Given the description of an element on the screen output the (x, y) to click on. 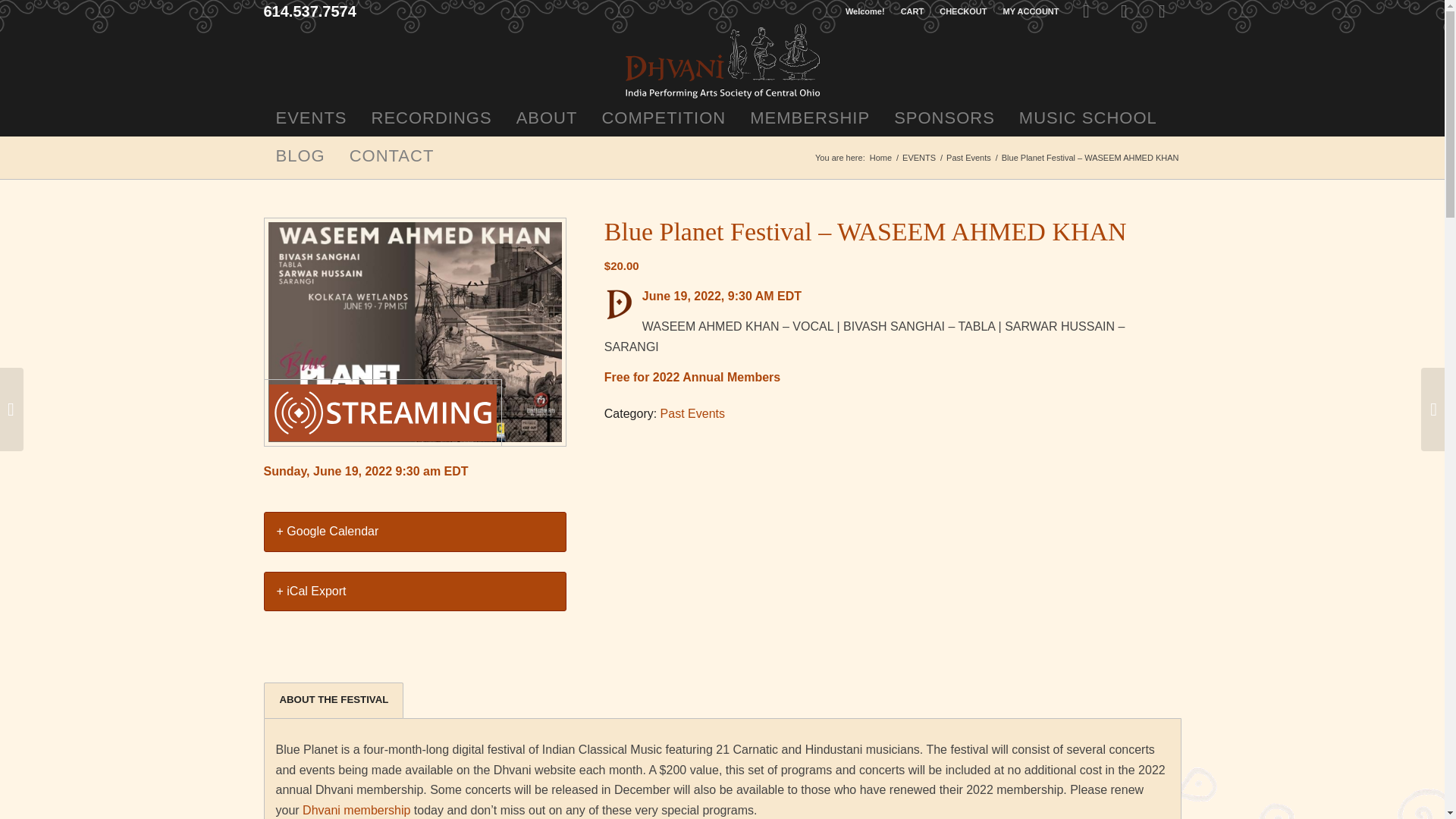
RECORDINGS (431, 117)
Welcome! (865, 11)
EVENTS (918, 157)
Past Events (967, 157)
Add to Google Calendar (414, 531)
COMPETITION (663, 117)
CHECKOUT (963, 11)
MY ACCOUNT (1031, 11)
Mail (1162, 11)
ABOUT THE FESTIVAL (333, 700)
